Given the description of an element on the screen output the (x, y) to click on. 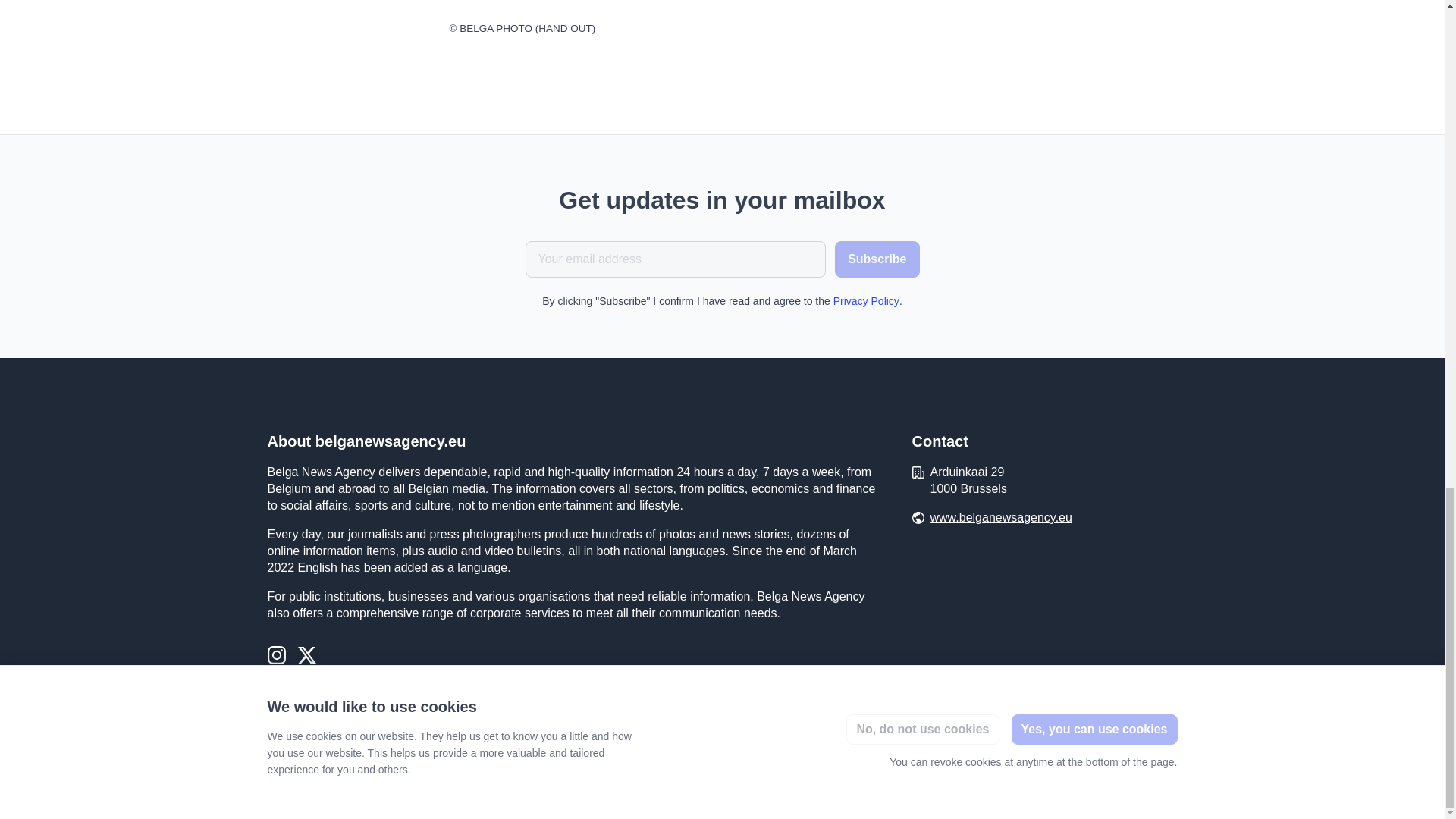
Privacy Policy (865, 300)
X (306, 656)
Subscribe (876, 258)
Made with (1109, 779)
www.belganewsagency.eu (1000, 517)
Privacy requests (305, 779)
Instagram (275, 656)
Start using cookies (402, 779)
